Given the description of an element on the screen output the (x, y) to click on. 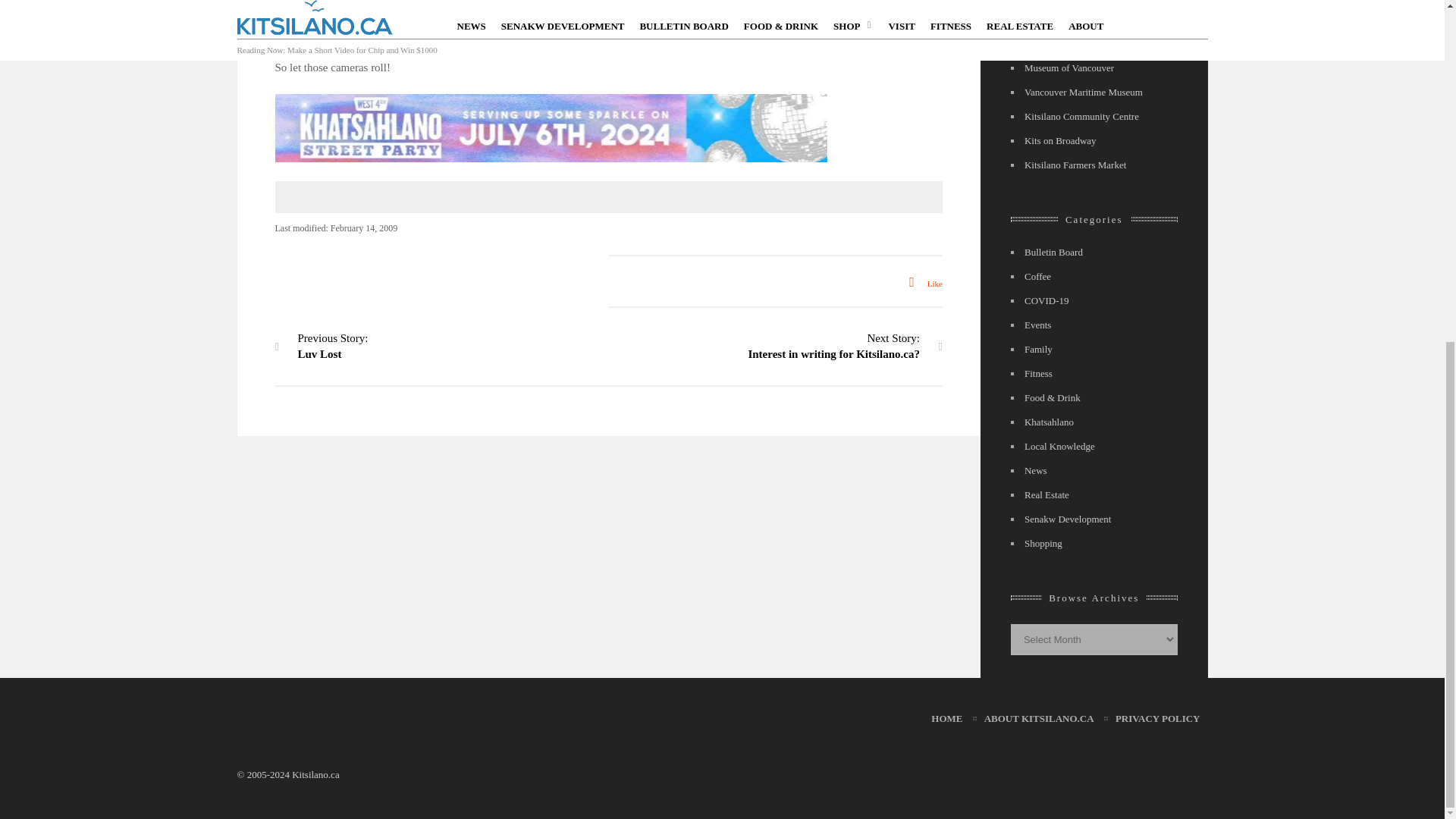
 Like (920, 283)
Like (834, 346)
